Given the description of an element on the screen output the (x, y) to click on. 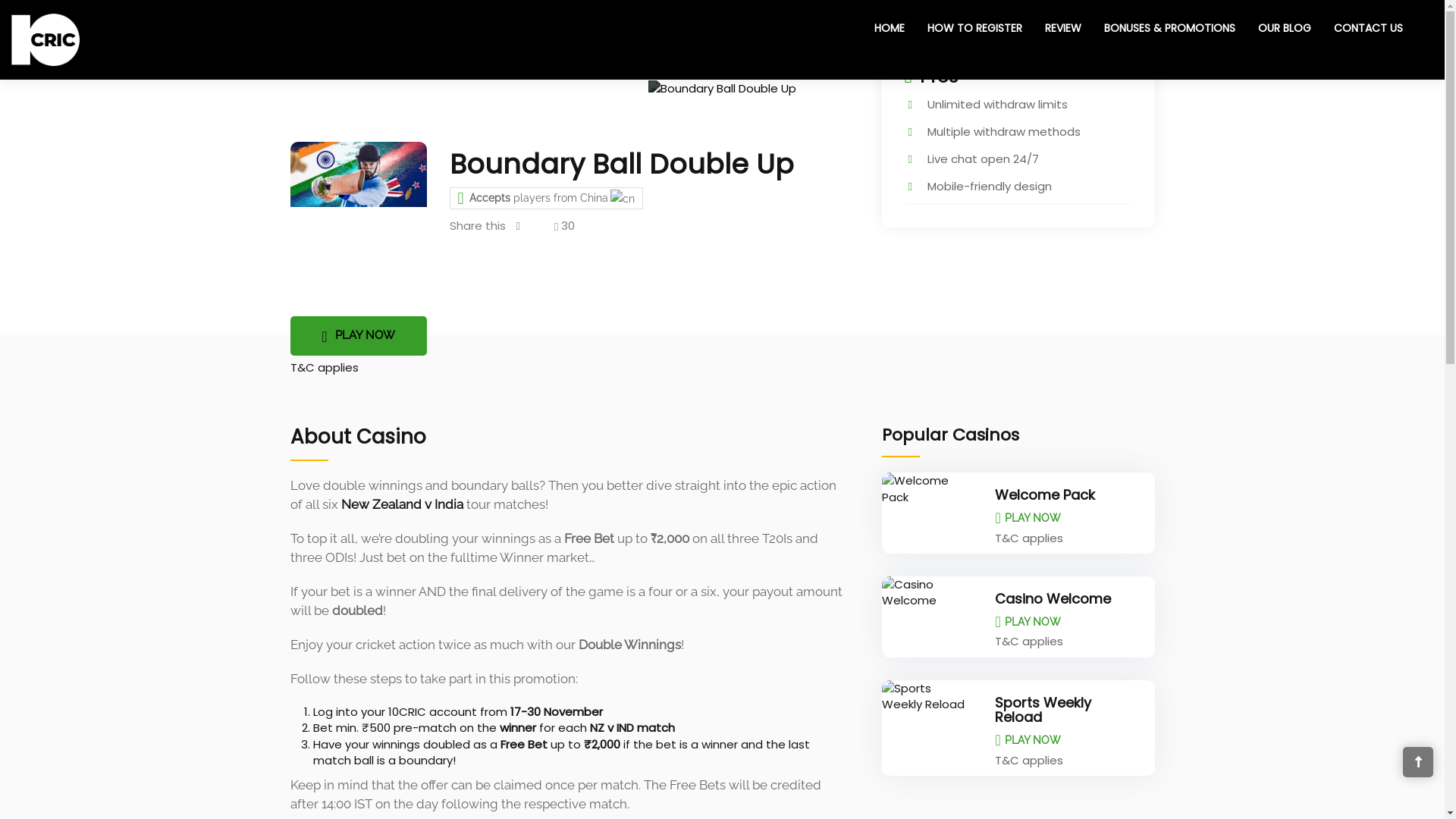
OUR BLOG Element type: text (1284, 28)
HOW TO REGISTER Element type: text (974, 28)
30 Element type: text (561, 228)
HOME Element type: text (889, 28)
PLAY NOW Element type: text (1027, 621)
NZ v IND match Element type: text (631, 727)
BONUSES & PROMOTIONS Element type: text (1169, 28)
PLAY NOW Element type: text (1027, 739)
Sports Weekly Reload Element type: text (1042, 710)
PLAY NOW Element type: text (1027, 517)
New Zealand v India Element type: text (402, 503)
Welcome Pack Element type: text (1044, 494)
PLAY NOW Element type: text (357, 335)
CONTACT US Element type: text (1368, 28)
Casino Welcome Element type: text (1052, 598)
REVIEW Element type: text (1062, 28)
